Given the description of an element on the screen output the (x, y) to click on. 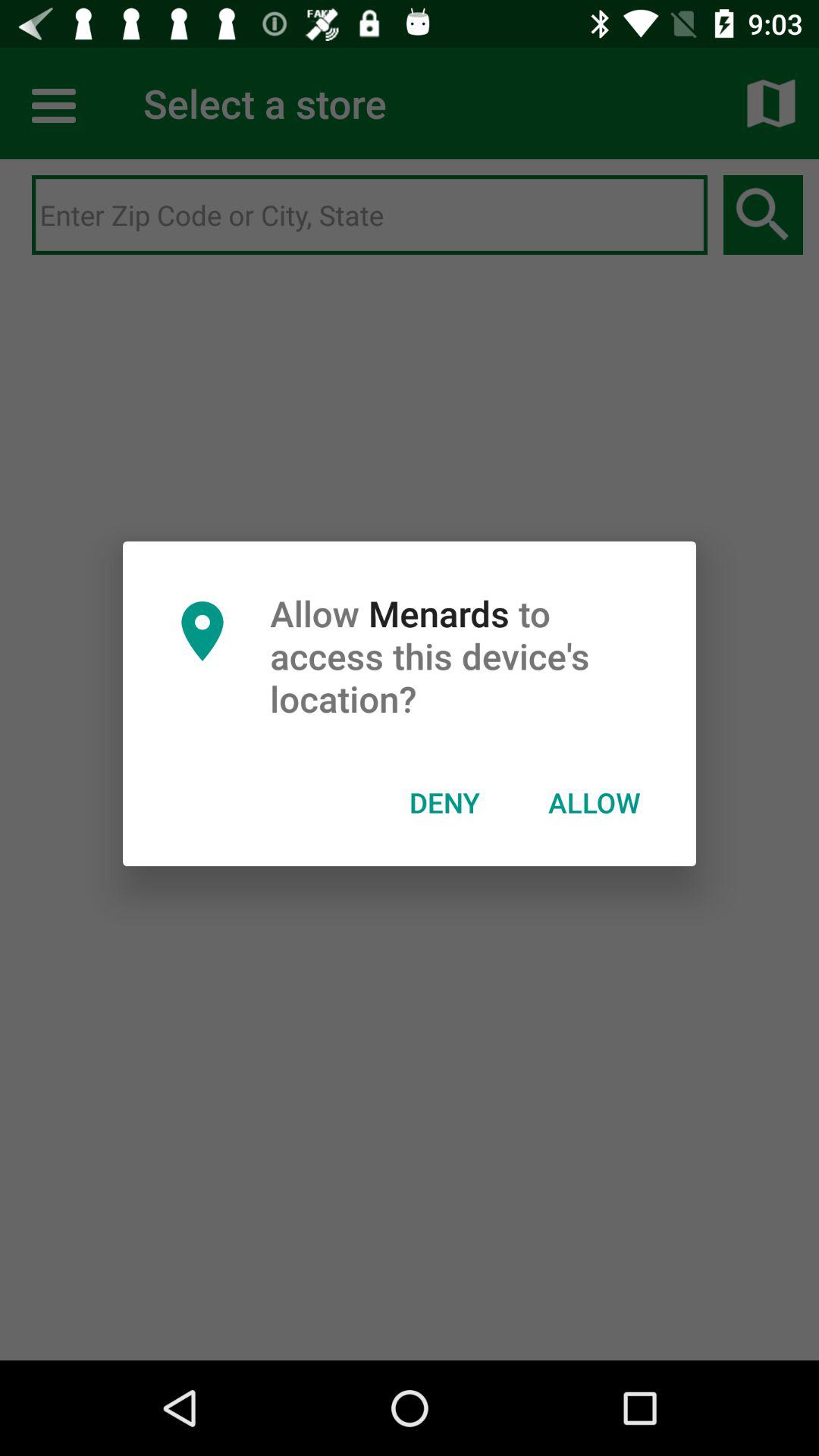
go to search (369, 215)
